Given the description of an element on the screen output the (x, y) to click on. 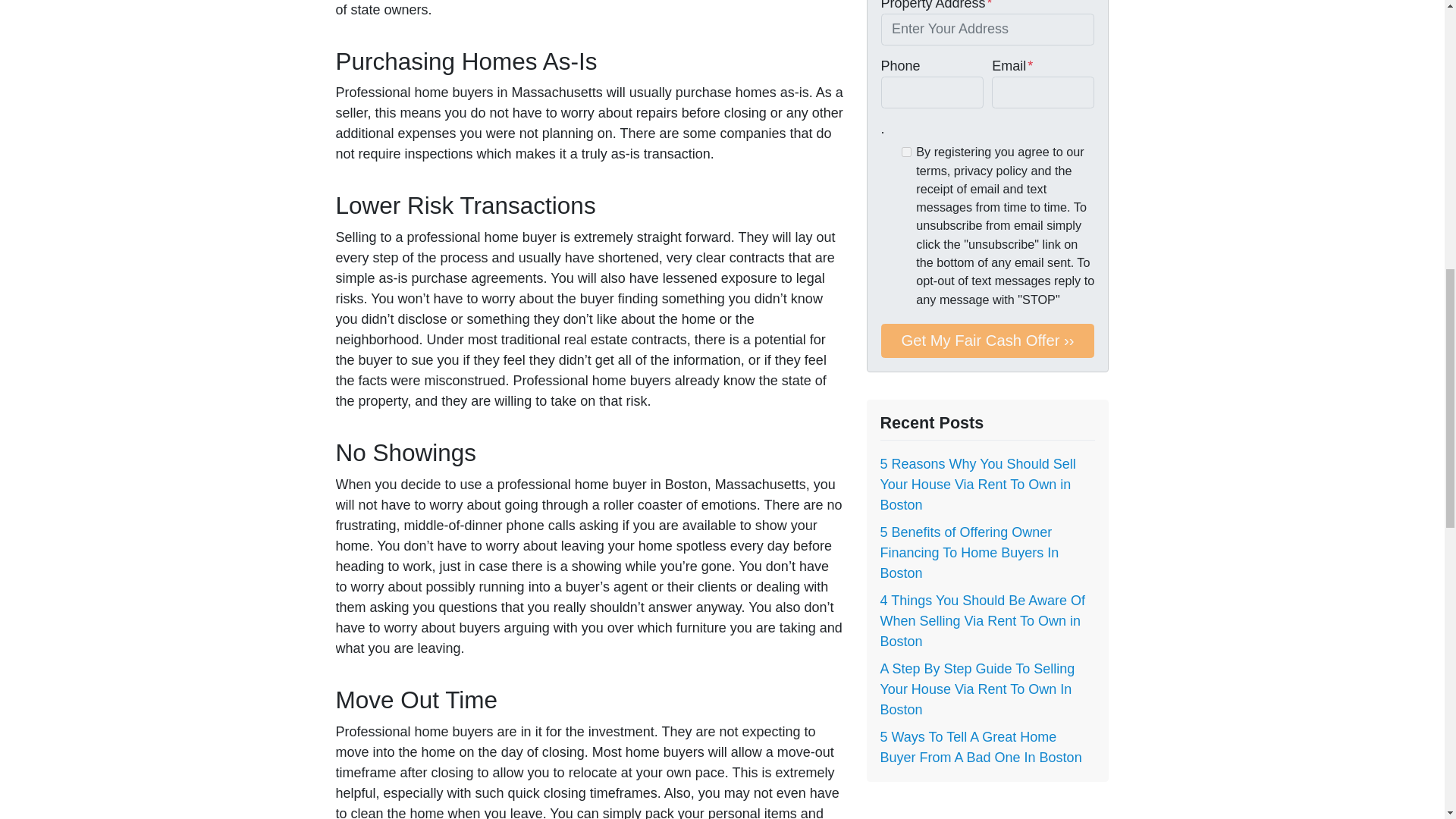
5 Ways To Tell A Great Home Buyer From A Bad One In Boston (980, 746)
